Given the description of an element on the screen output the (x, y) to click on. 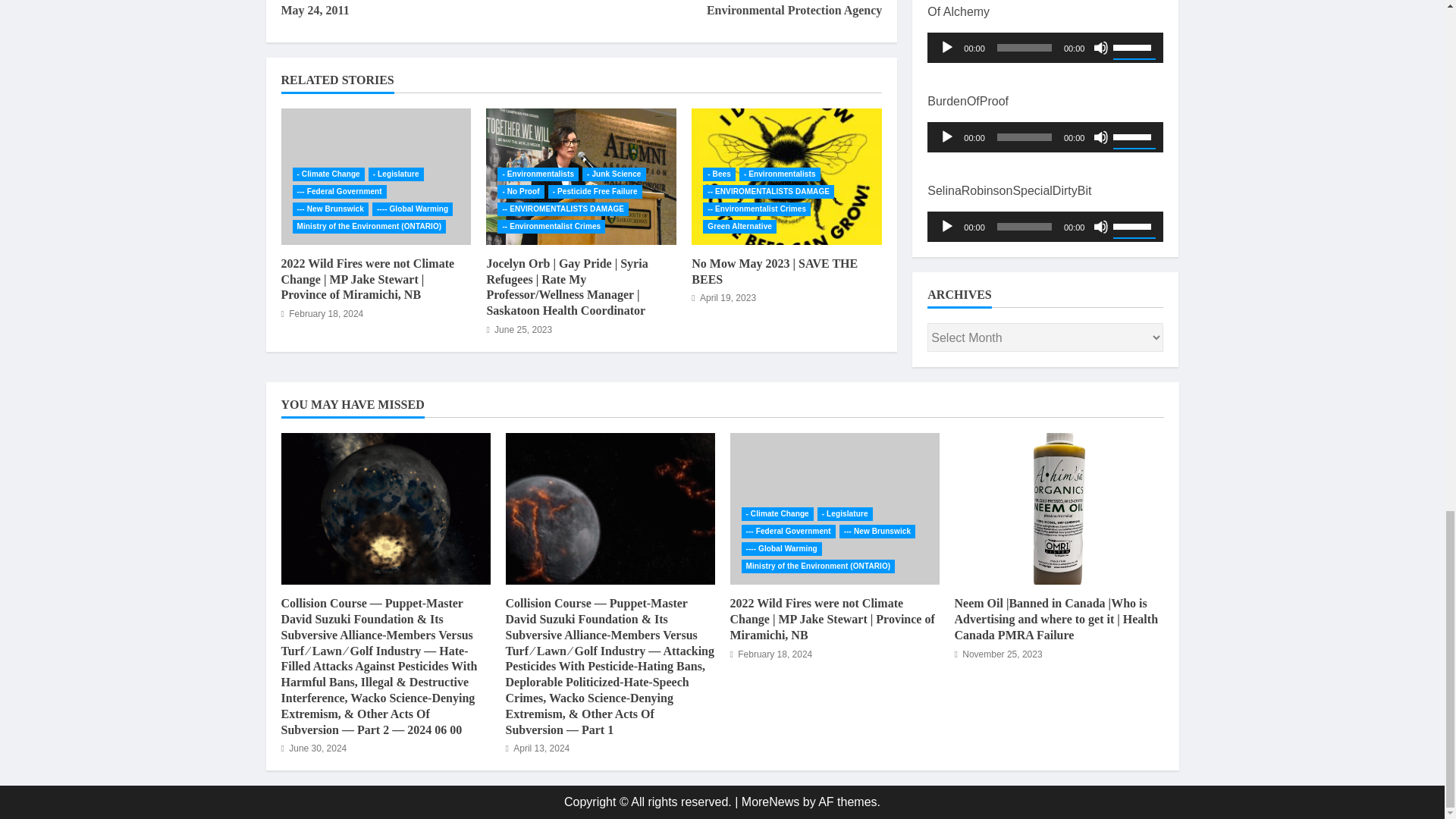
- Climate Change (328, 173)
--- Federal Government (339, 192)
--- New Brunswick (330, 209)
- Legislature (395, 173)
